Given the description of an element on the screen output the (x, y) to click on. 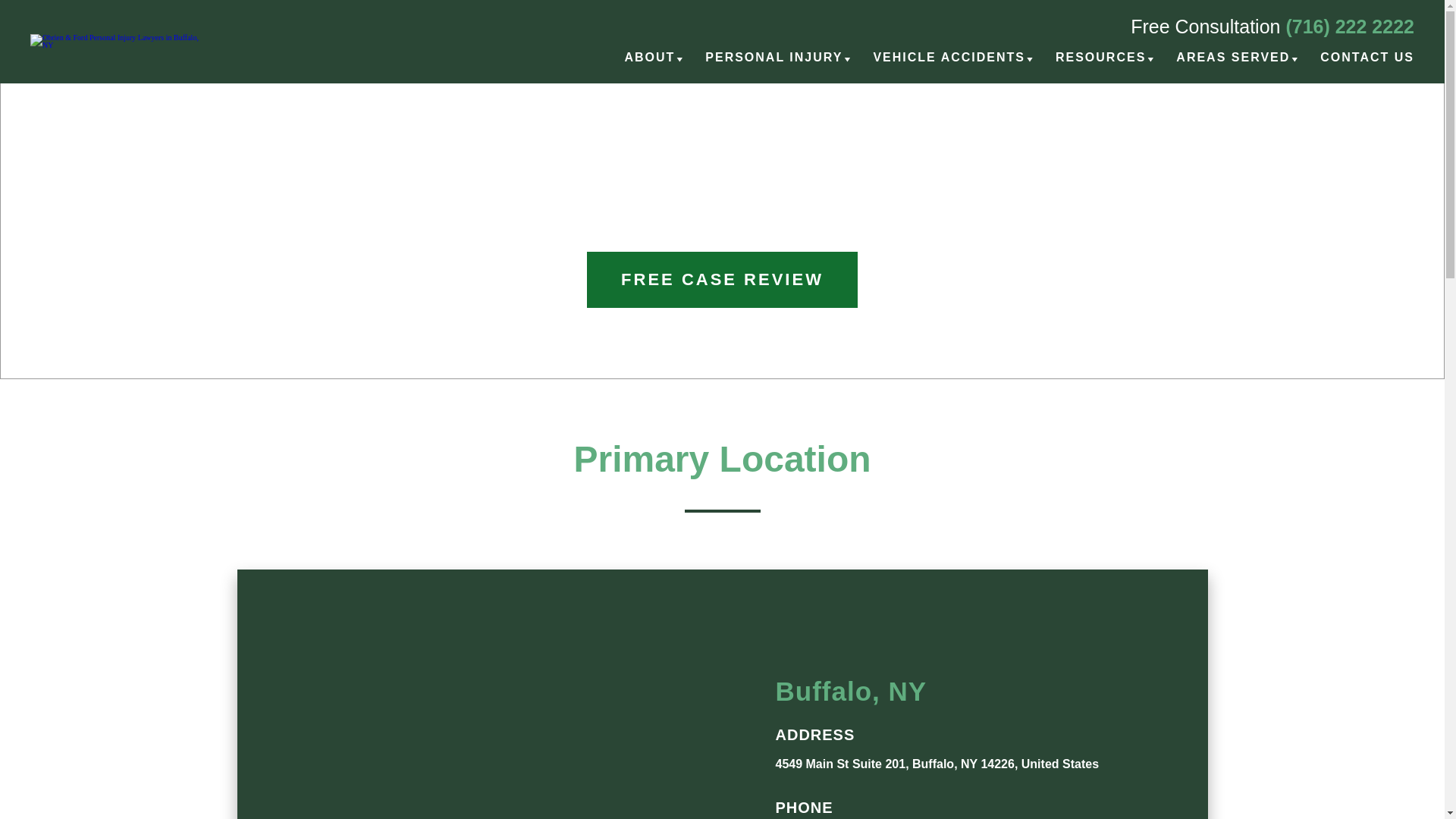
PERSONAL INJURY (773, 65)
RESOURCES (1100, 65)
ABOUT (649, 65)
4549 Main St Suite 201, Buffalo, NY 14226, United States (936, 763)
VEHICLE ACCIDENTS (948, 65)
AREAS SERVED (1233, 65)
CONTACT US (1366, 65)
FREE CASE REVIEW (721, 279)
FREE CASE REVIEW (721, 279)
